Given the description of an element on the screen output the (x, y) to click on. 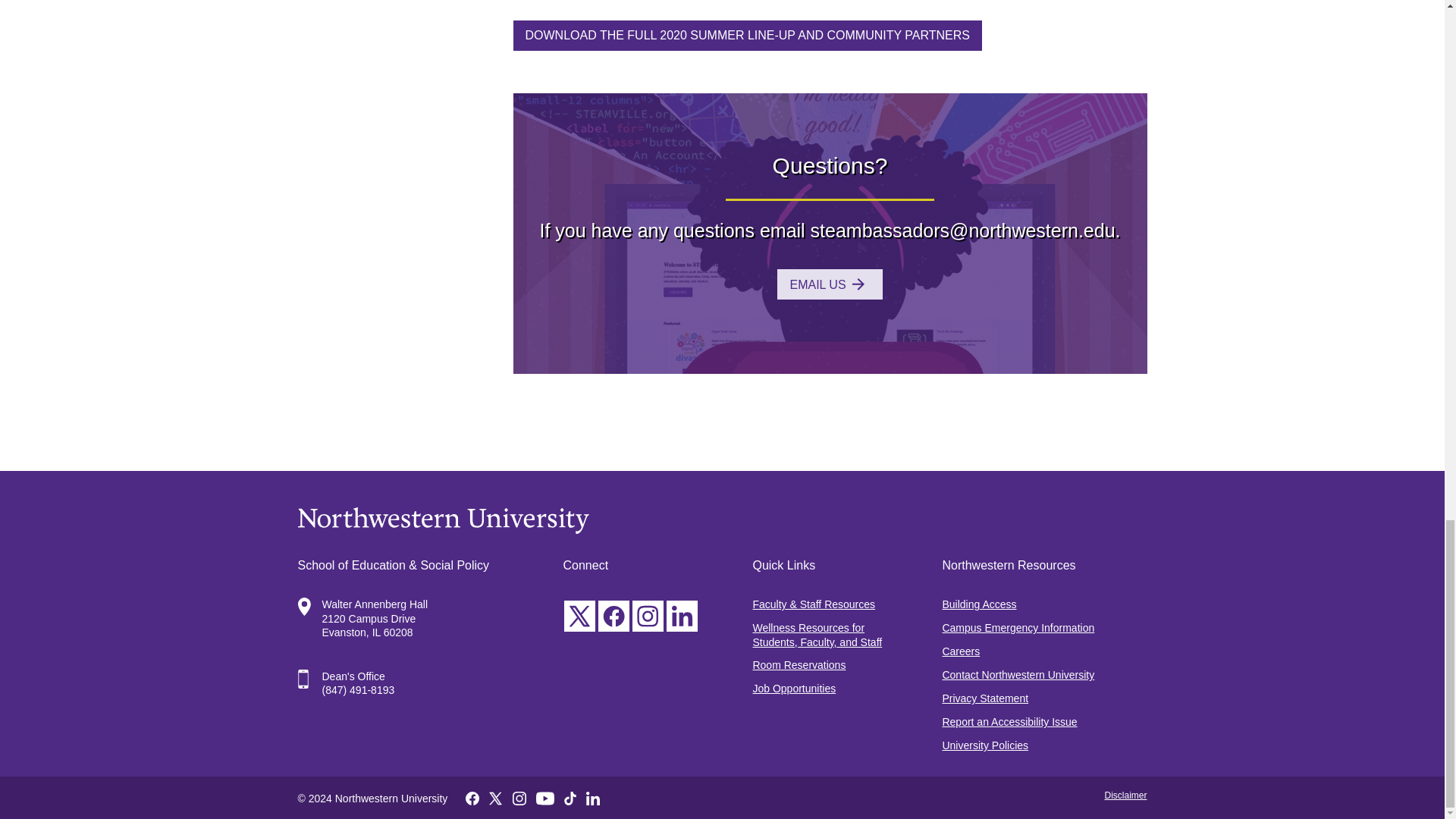
Northwestern University Home (722, 519)
